Given the description of an element on the screen output the (x, y) to click on. 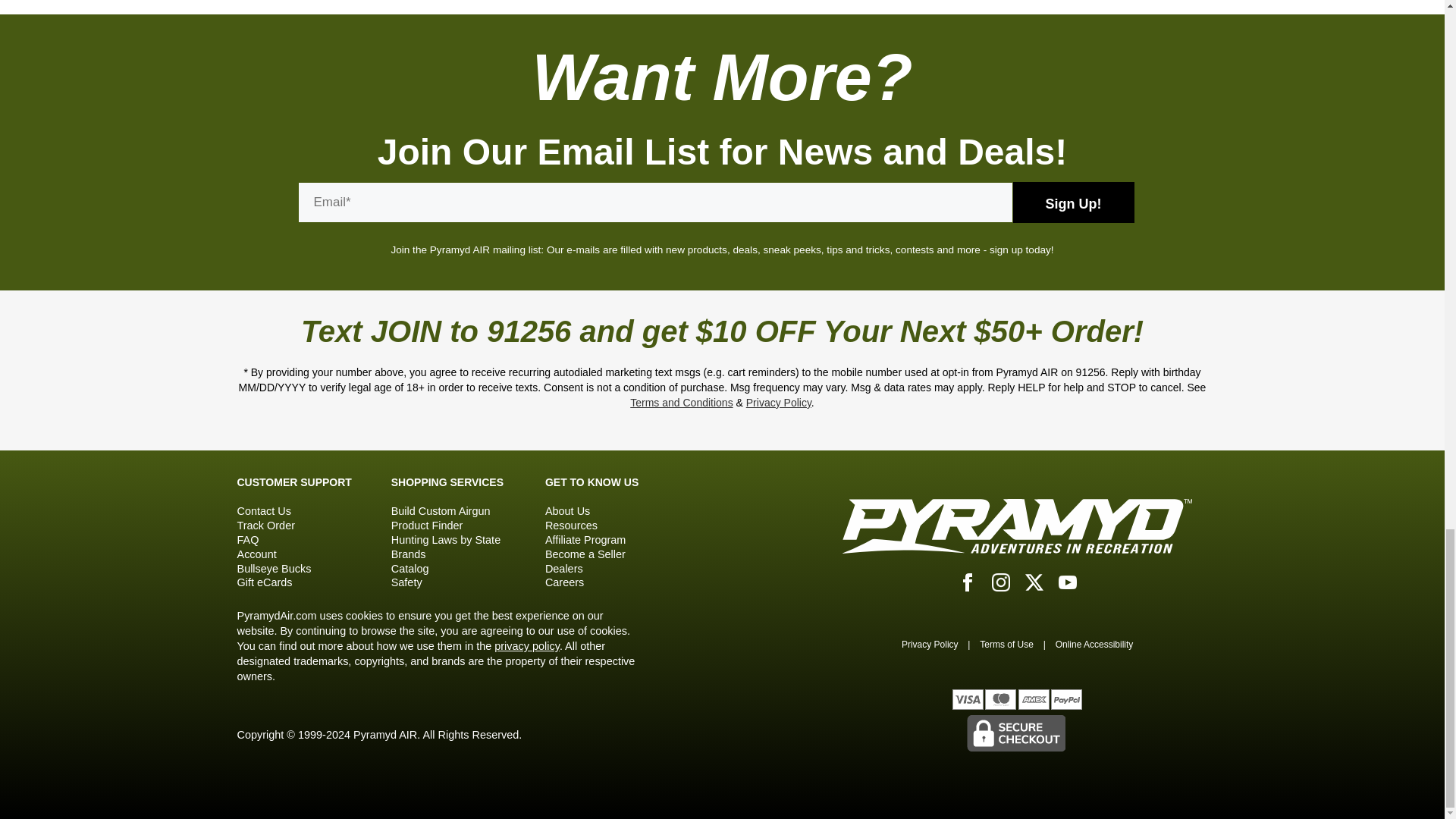
Scroll back to top (1400, 21)
